Given the description of an element on the screen output the (x, y) to click on. 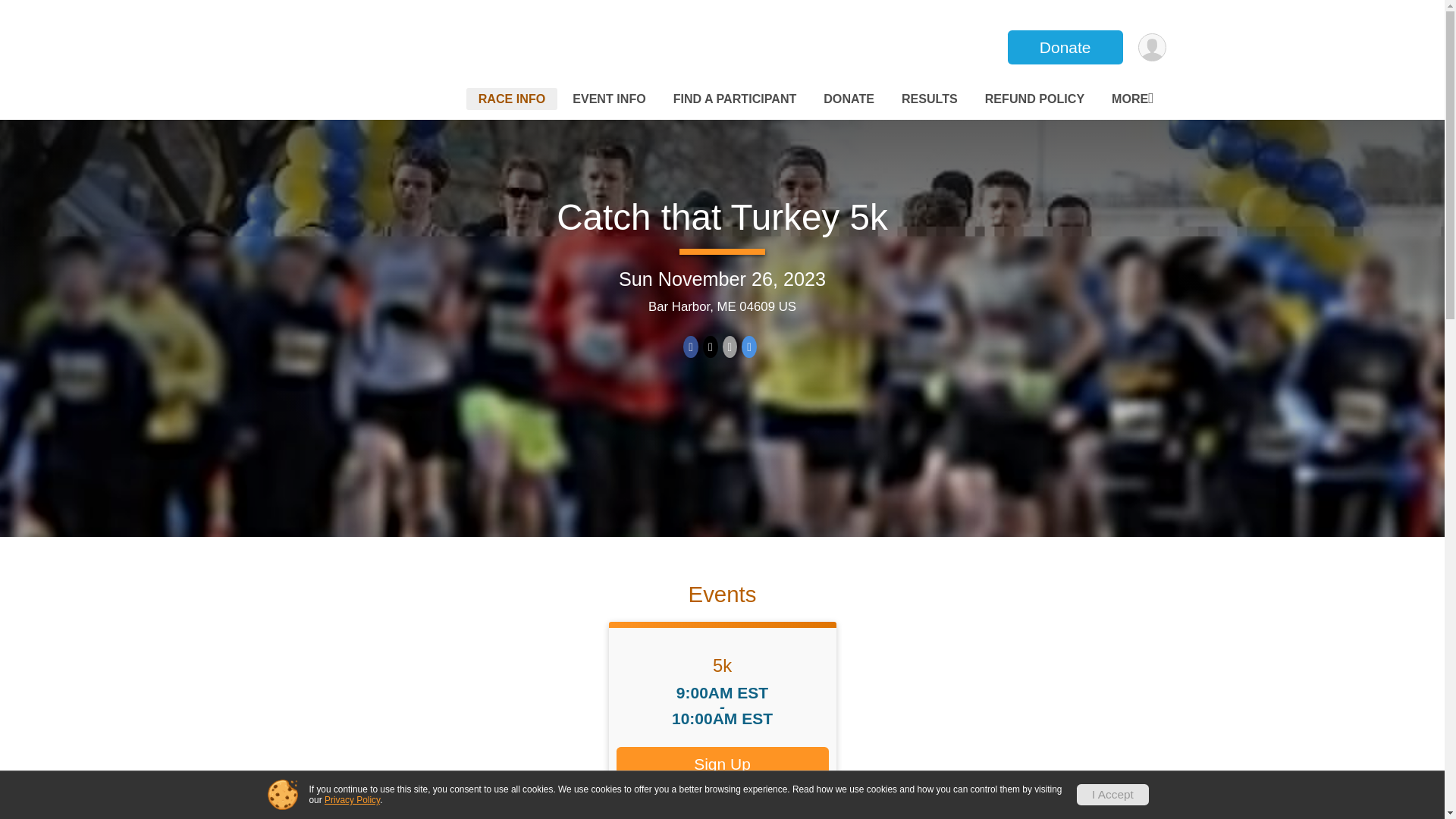
Catch that Turkey 5k (721, 217)
RESULTS (929, 98)
REFUND POLICY (1034, 98)
FIND A PARTICIPANT (735, 98)
EVENT INFO (608, 98)
Donate (1064, 47)
MORE (1131, 98)
Sign Up (721, 763)
RACE INFO (511, 98)
DONATE (848, 98)
5k (722, 665)
